Given the description of an element on the screen output the (x, y) to click on. 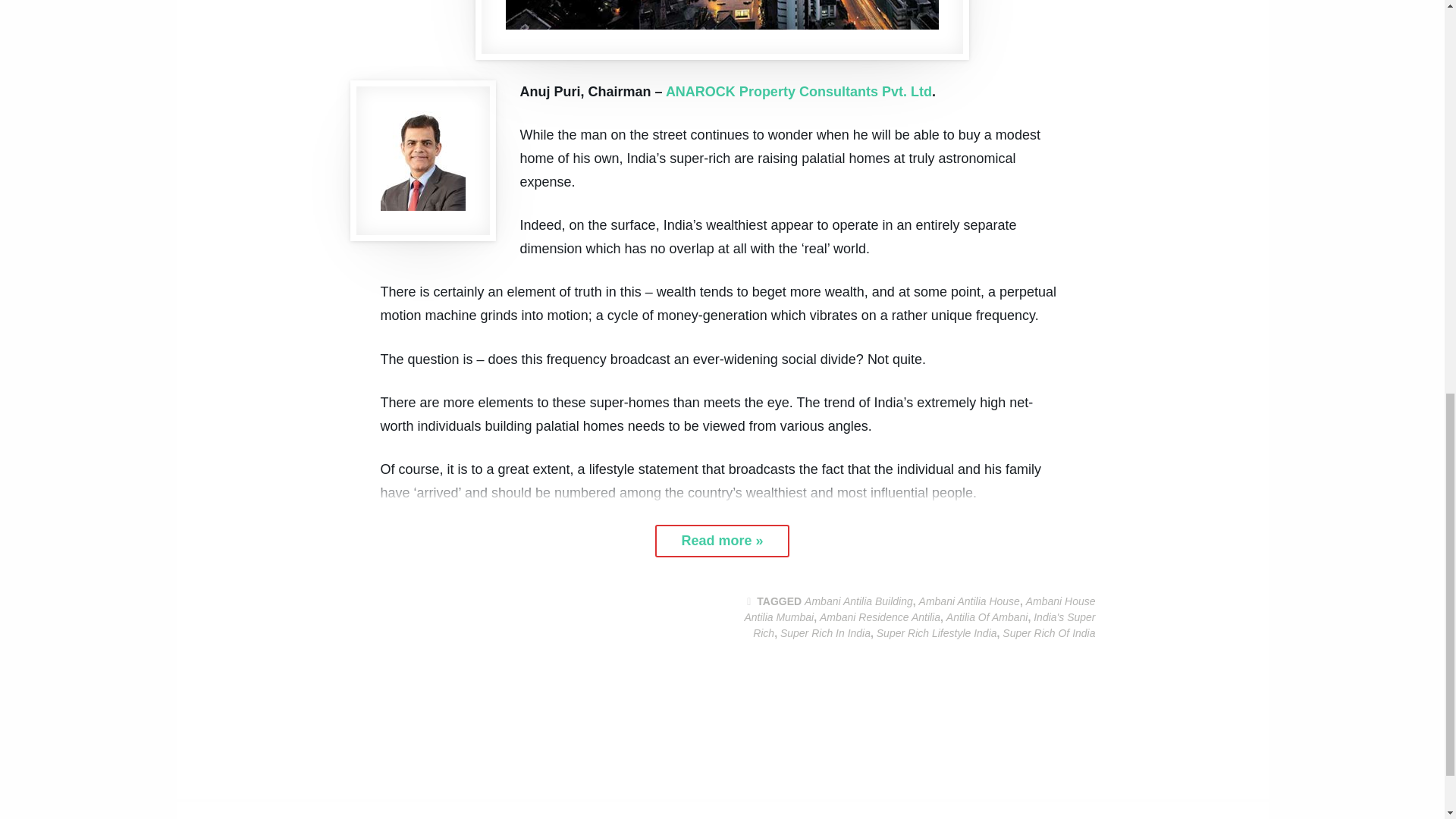
Antilia Of Ambani (986, 616)
ANAROCK Property Consultants Pvt. Ltd (798, 91)
Super Rich Lifestyle India (936, 633)
Super Rich Of India (1048, 633)
Ambani Antilia House (969, 601)
Ambani Antilia Building (858, 601)
Ambani House Antilia Mumbai (919, 609)
Ambani Residence Antilia (879, 616)
India'S Super Rich (923, 624)
Super Rich In India (825, 633)
